Given the description of an element on the screen output the (x, y) to click on. 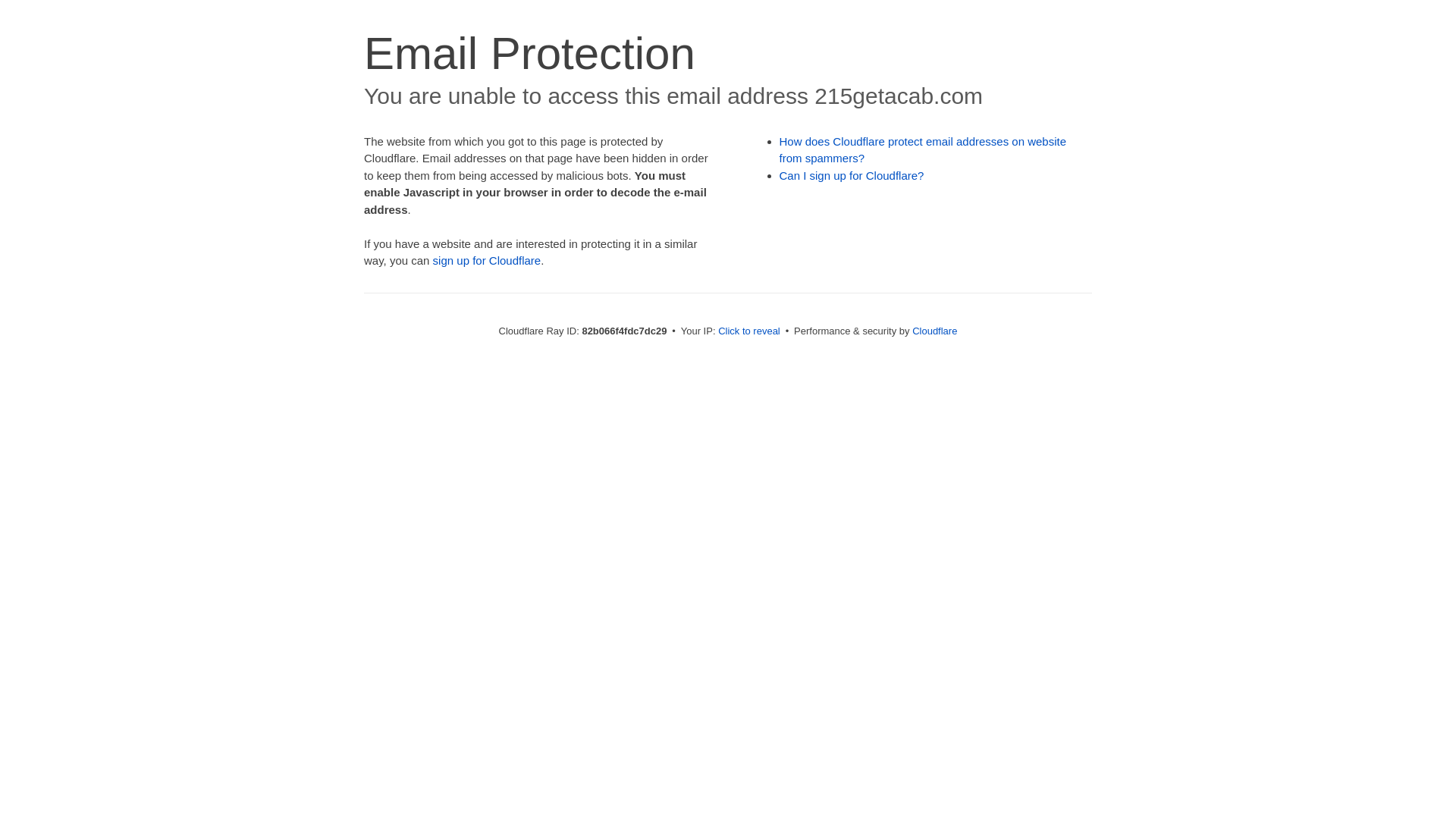
Cloudflare Element type: text (934, 330)
Can I sign up for Cloudflare? Element type: text (851, 175)
Click to reveal Element type: text (749, 330)
sign up for Cloudflare Element type: text (487, 260)
